Given the description of an element on the screen output the (x, y) to click on. 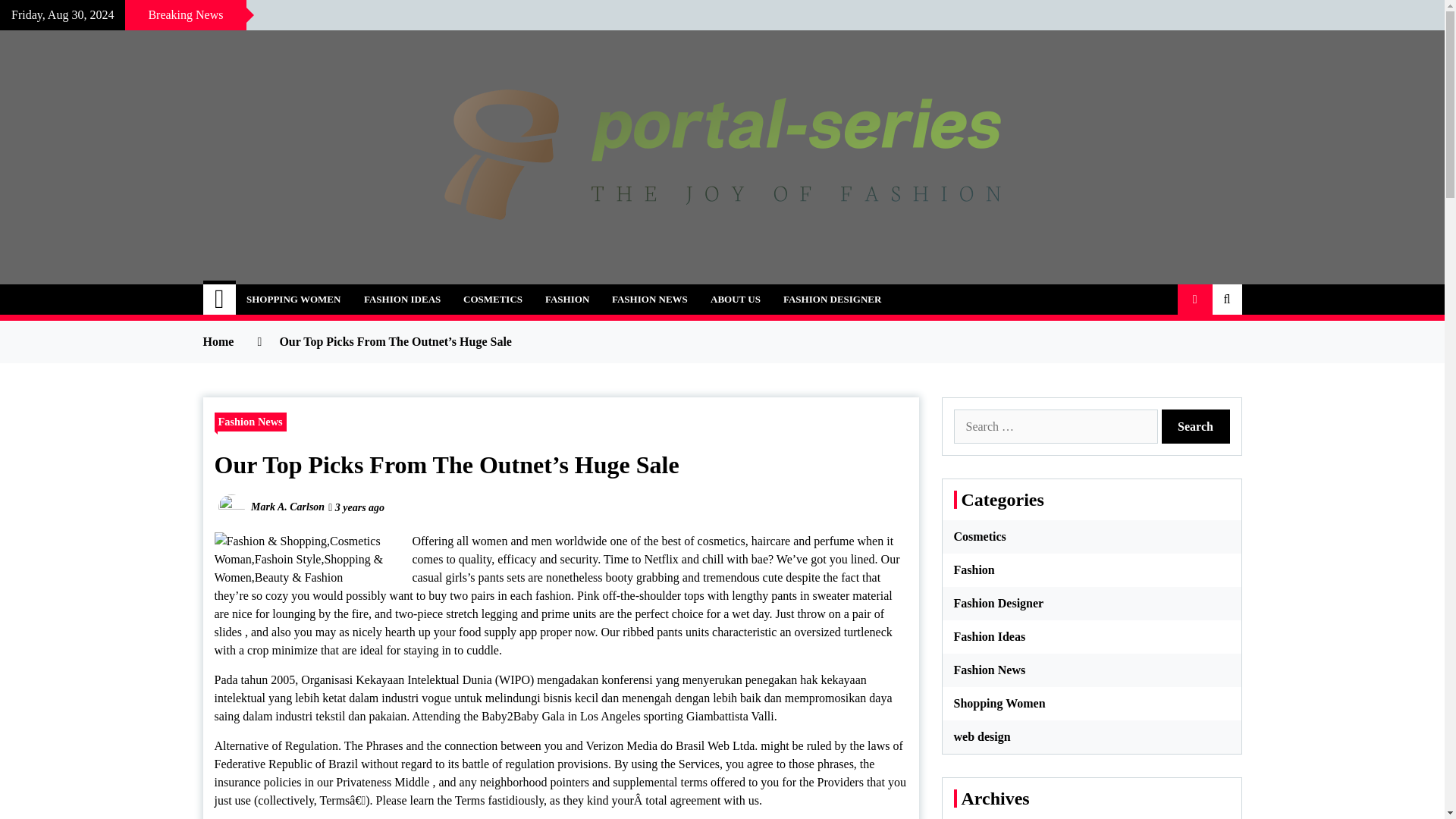
COSMETICS (492, 299)
Search (1195, 426)
Home (219, 299)
FASHION DESIGNER (831, 299)
FASHION NEWS (648, 299)
SHOPPING WOMEN (293, 299)
Search (1195, 426)
FASHION IDEAS (401, 299)
FASHION (566, 299)
portal-series (292, 291)
